Given the description of an element on the screen output the (x, y) to click on. 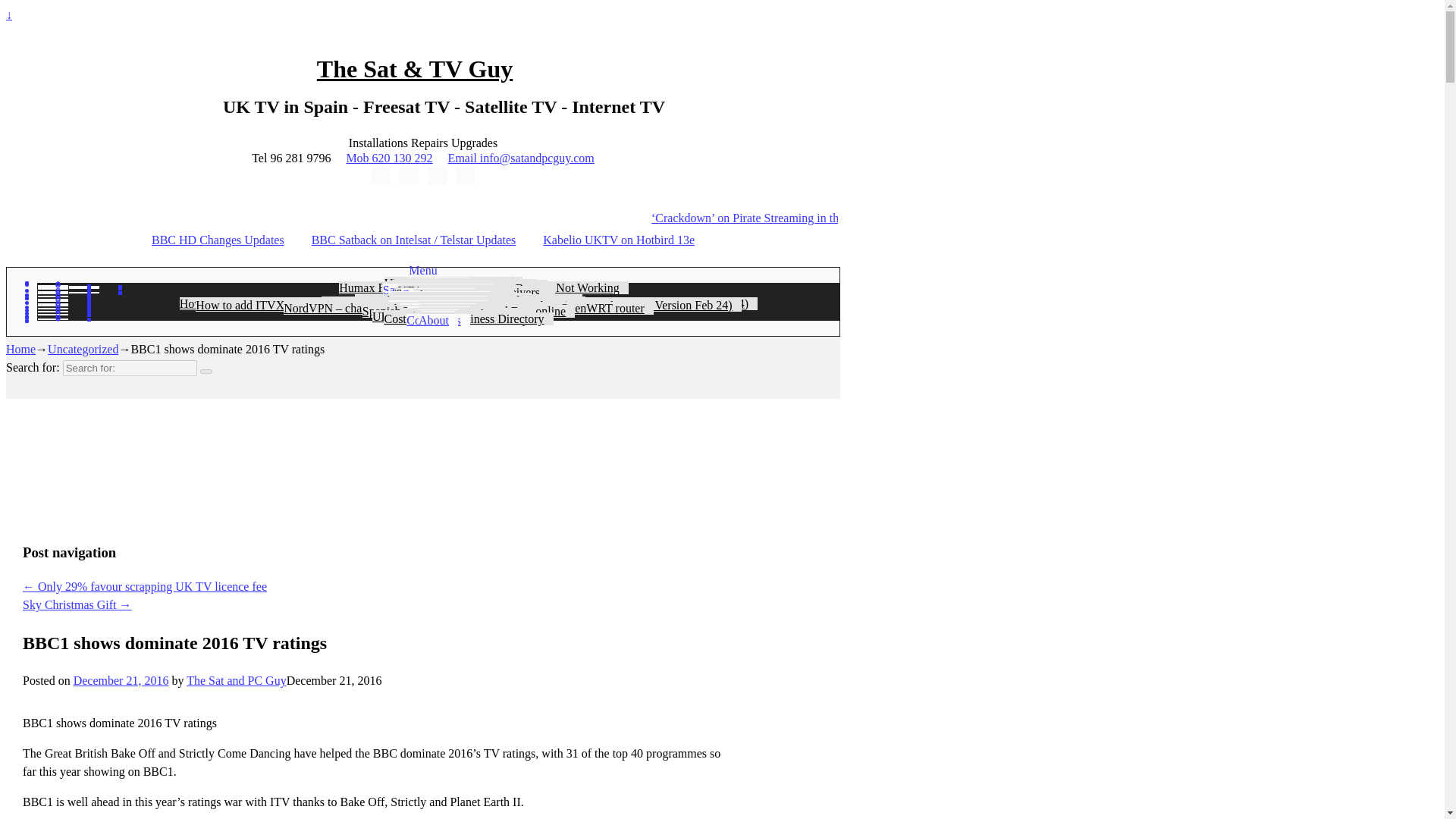
Manhattan Freesat Set Top Boxes (467, 287)
Technical Specifications (484, 286)
Software Updates (483, 286)
TV Licence in Spain (453, 282)
4k Freesat Set Top Boxes (467, 285)
Freesat Set Top Boxes (453, 284)
Freesat TV (437, 283)
UK TV in Spain (438, 282)
Freesat Help Videos (452, 288)
8:15 am (121, 680)
View all posts by The Sat and PC Guy (236, 680)
TV News Blog (438, 282)
Freesat Installations (453, 284)
UK TV Satellites (453, 290)
Home (438, 282)
